Given the description of an element on the screen output the (x, y) to click on. 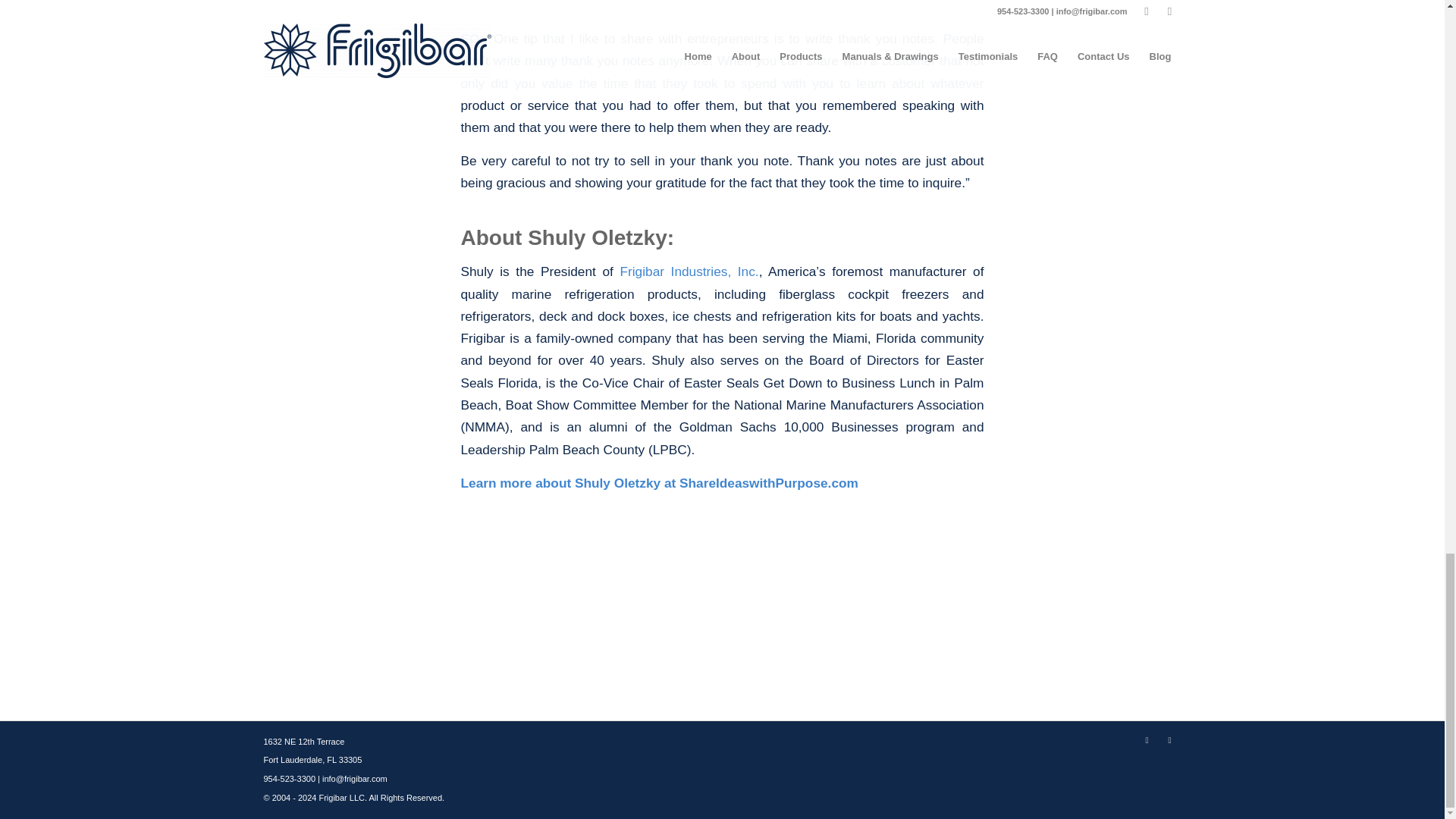
Frigibar Industries, Inc. (685, 271)
Instagram (1169, 739)
Facebook (1146, 739)
954-523-3300 (289, 777)
ShareIdeaswithPurpose.com (769, 482)
